Given the description of an element on the screen output the (x, y) to click on. 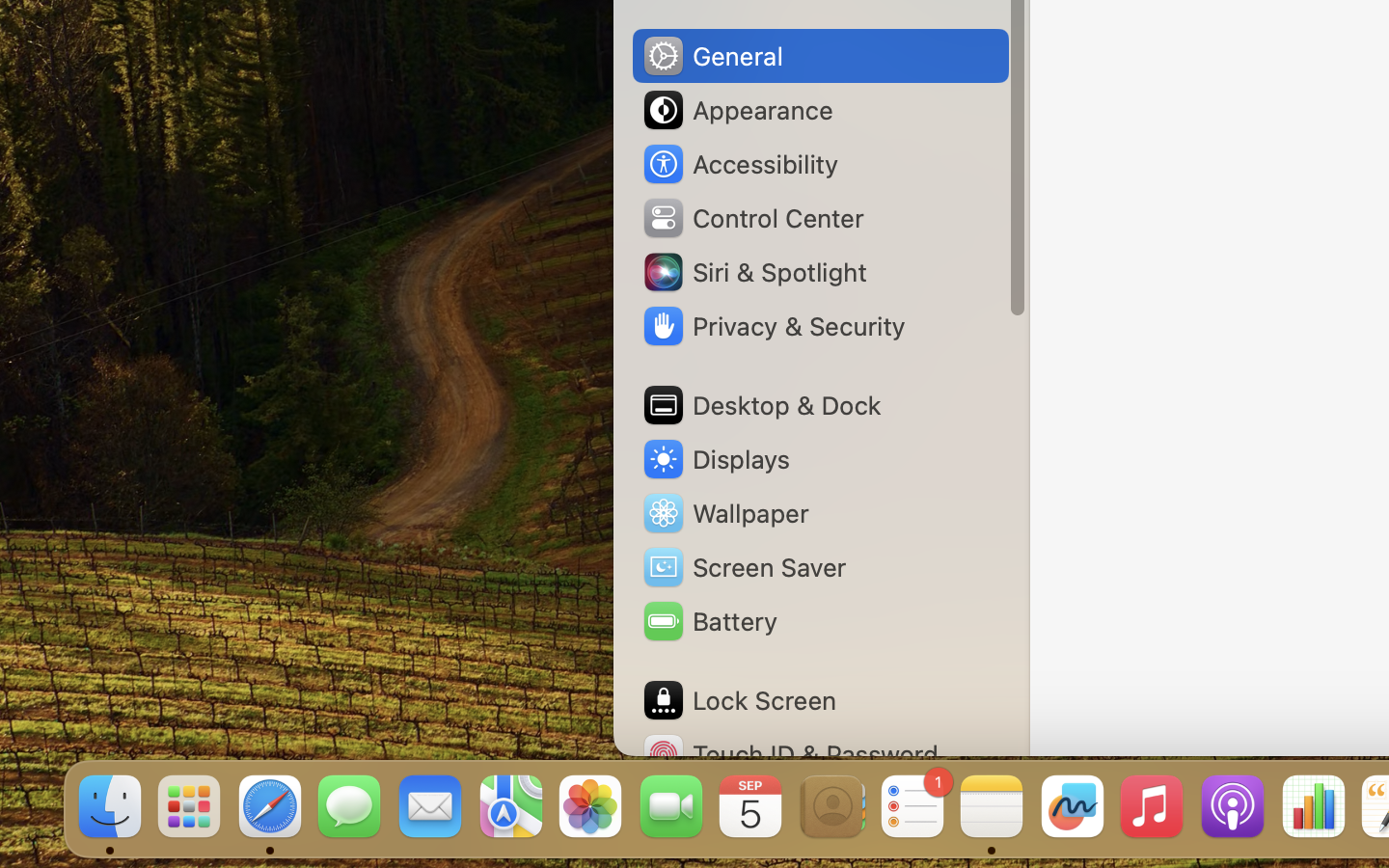
Siri & Spotlight Element type: AXStaticText (753, 271)
Accessibility Element type: AXStaticText (739, 163)
Screen Saver Element type: AXStaticText (743, 566)
Control Center Element type: AXStaticText (752, 217)
Privacy & Security Element type: AXStaticText (772, 325)
